Given the description of an element on the screen output the (x, y) to click on. 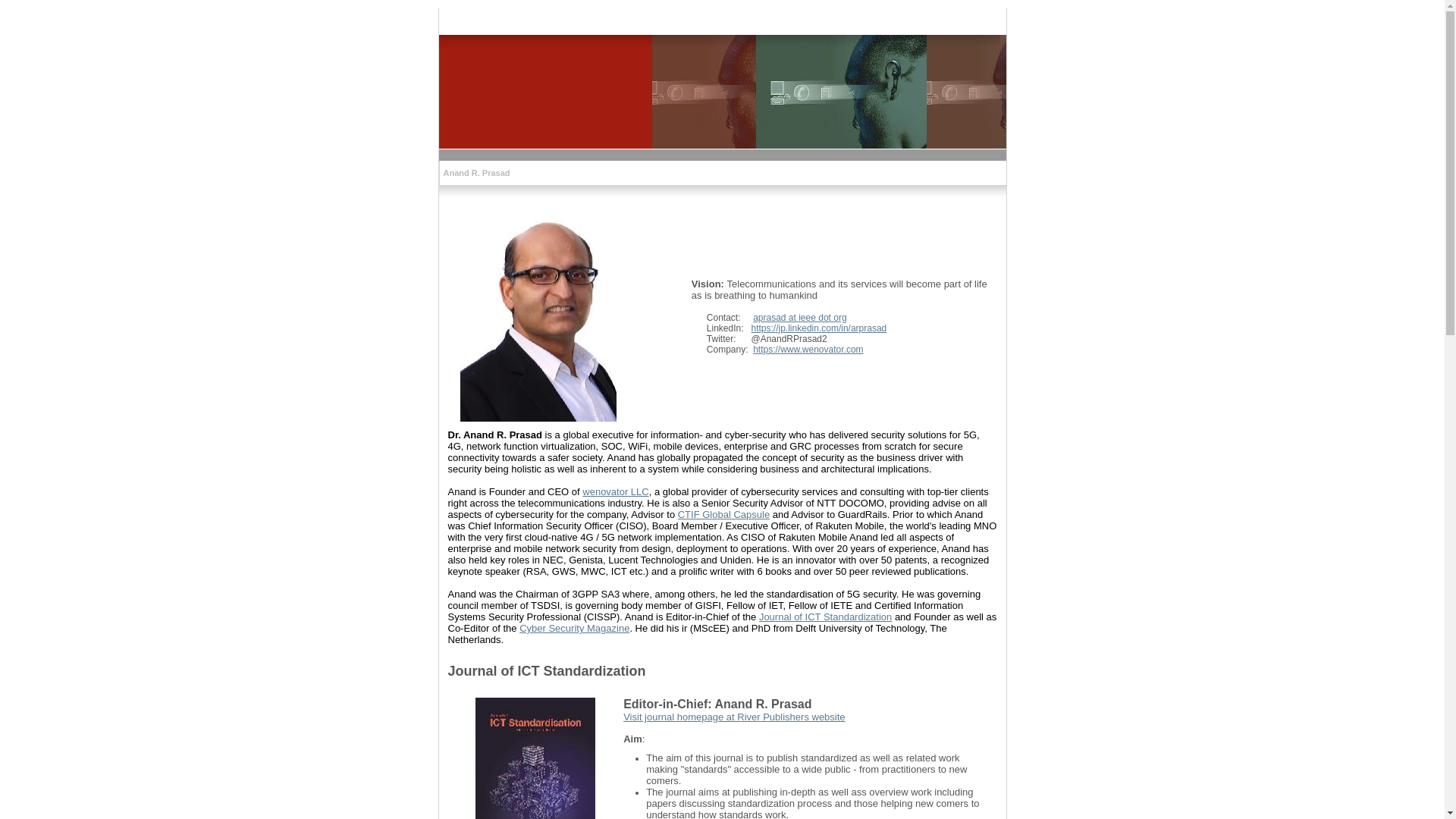
Visit journal homepage at River Publishers website Element type: text (733, 716)
Journal of ICT Standardization Element type: text (825, 616)
https://www.wenovator.com Element type: text (807, 349)
Cyber Security Magazine Element type: text (574, 627)
CTIF Global Capsule Element type: text (723, 514)
aprasad at ieee dot org Element type: text (799, 317)
wenovator LLC Element type: text (615, 491)
Anand R. Prasad Element type: text (475, 172)
https://jp.linkedin.com/in/arprasad Element type: text (819, 328)
